Given the description of an element on the screen output the (x, y) to click on. 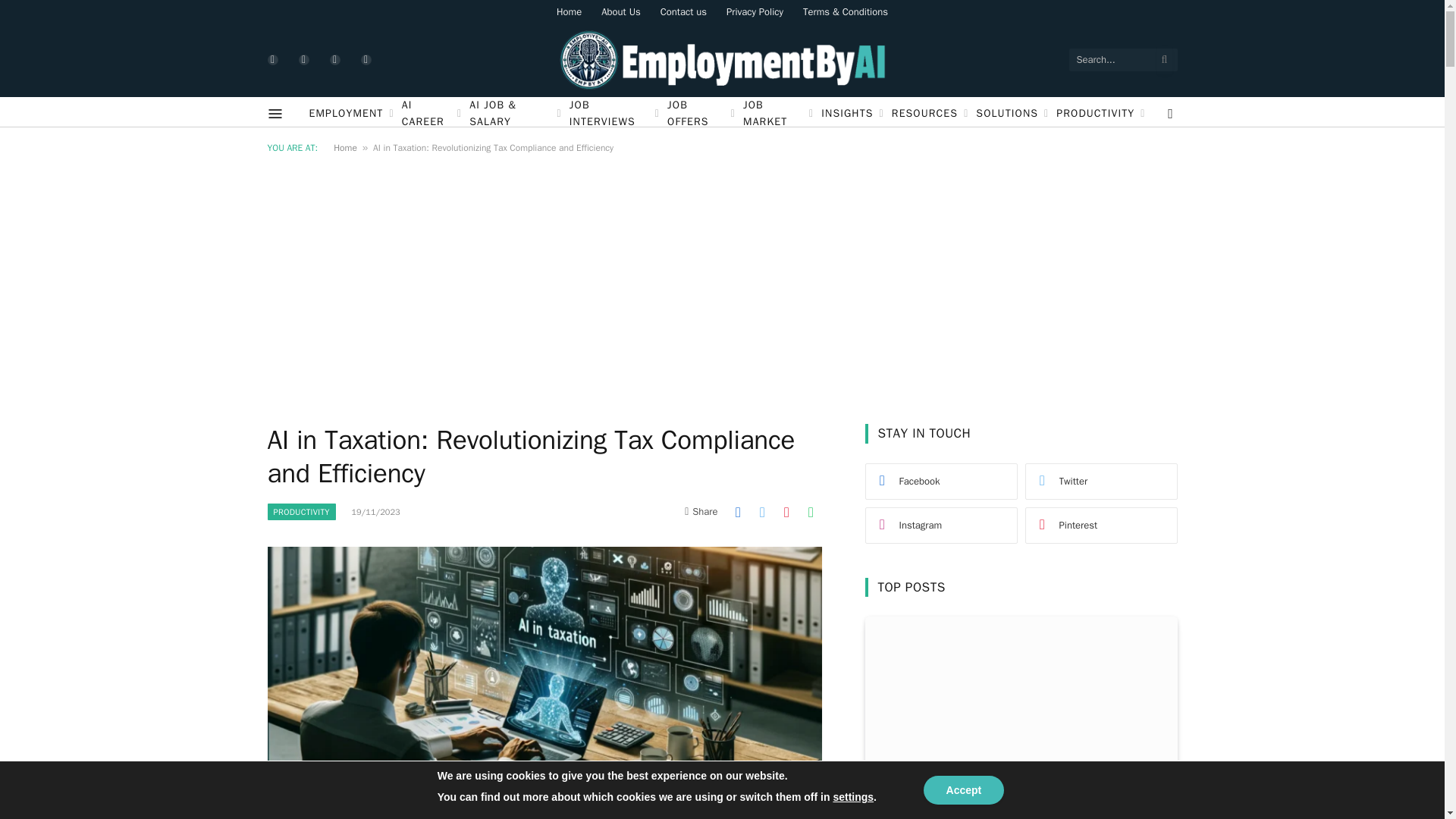
About Us (620, 11)
Contact us (683, 11)
EMPLOYMENT (350, 114)
Facebook (272, 59)
Instagram (334, 59)
Employment By AI (722, 59)
Home (569, 11)
Pinterest (366, 59)
Privacy Policy (754, 11)
